Given the description of an element on the screen output the (x, y) to click on. 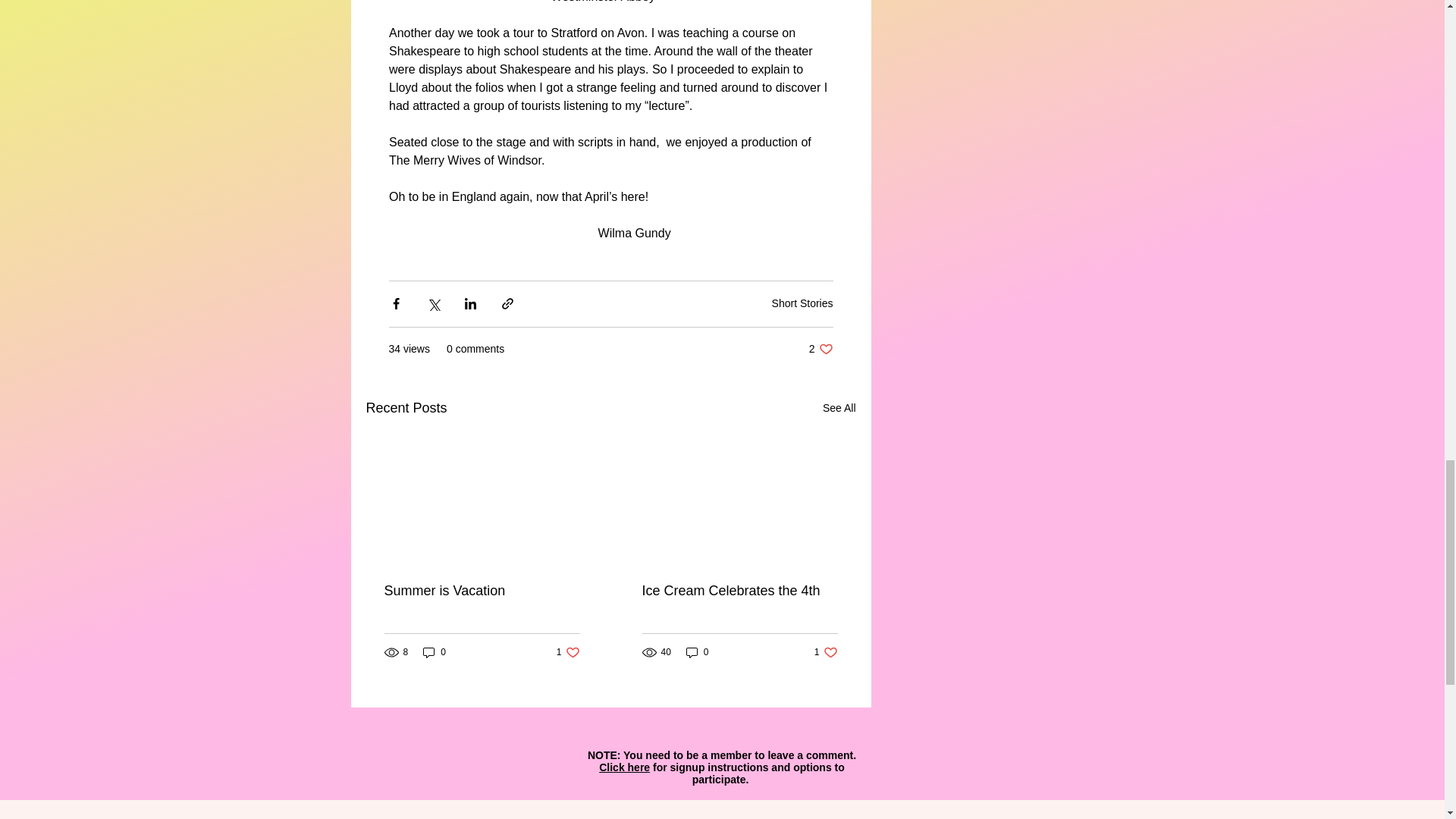
Summer is Vacation (481, 590)
See All (820, 349)
Ice Cream Celebrates the 4th (839, 408)
0 (739, 590)
0 (697, 652)
Short Stories (825, 652)
